Given the description of an element on the screen output the (x, y) to click on. 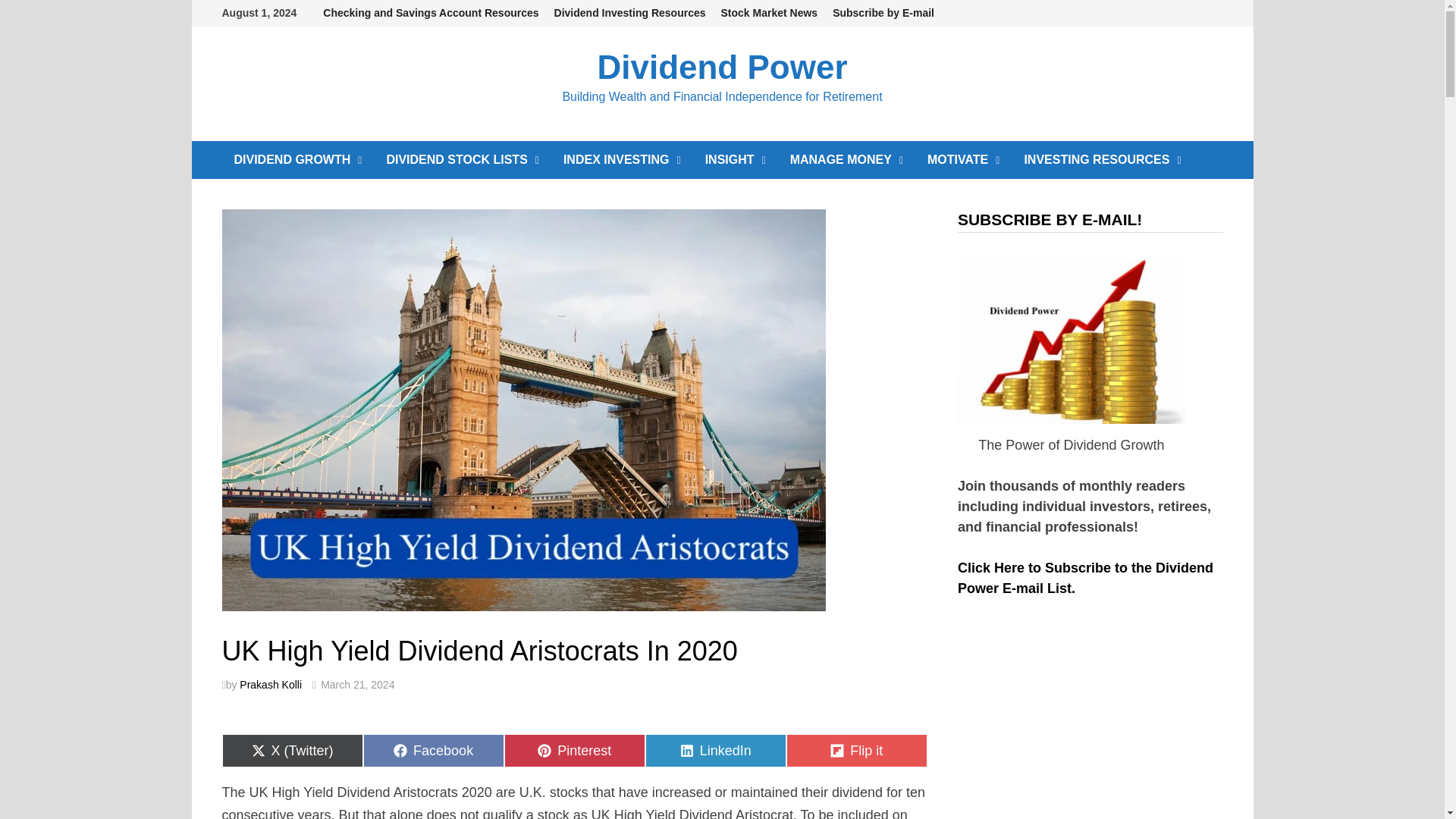
Dividend Power (721, 66)
INSIGHT (735, 159)
DIVIDEND STOCK LISTS (462, 159)
Subscribe by E-mail (883, 13)
INDEX INVESTING (622, 159)
DIVIDEND GROWTH (297, 159)
Stock Market News (769, 13)
Checking and Savings Account Resources (430, 13)
Dividend Investing Resources (630, 13)
